Given the description of an element on the screen output the (x, y) to click on. 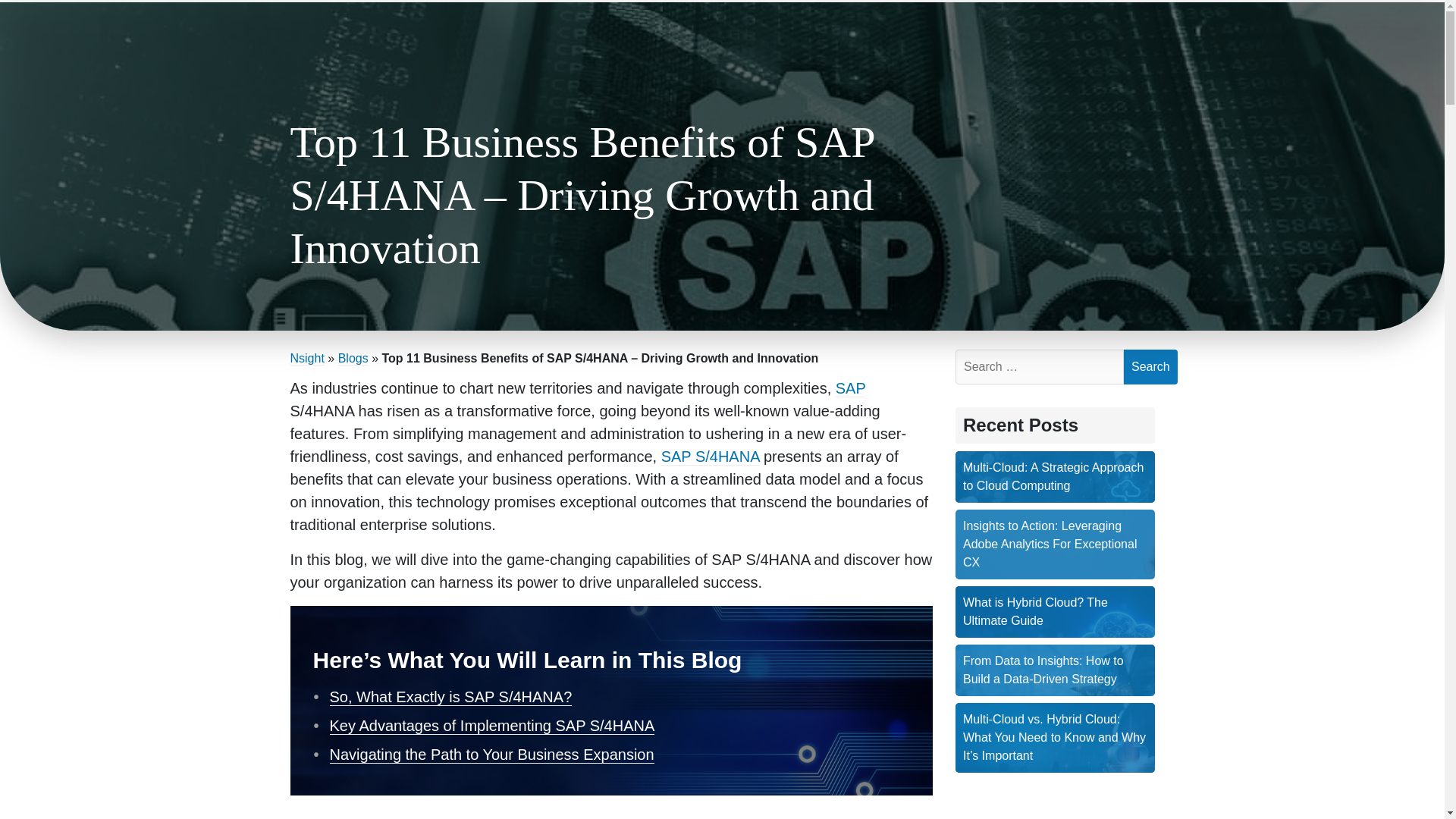
Industries (1210, 39)
Technology (1058, 39)
Services (1136, 39)
Technology (1058, 39)
About (1277, 39)
Digital Transformation (943, 39)
Digital Transformation (943, 39)
